Given the description of an element on the screen output the (x, y) to click on. 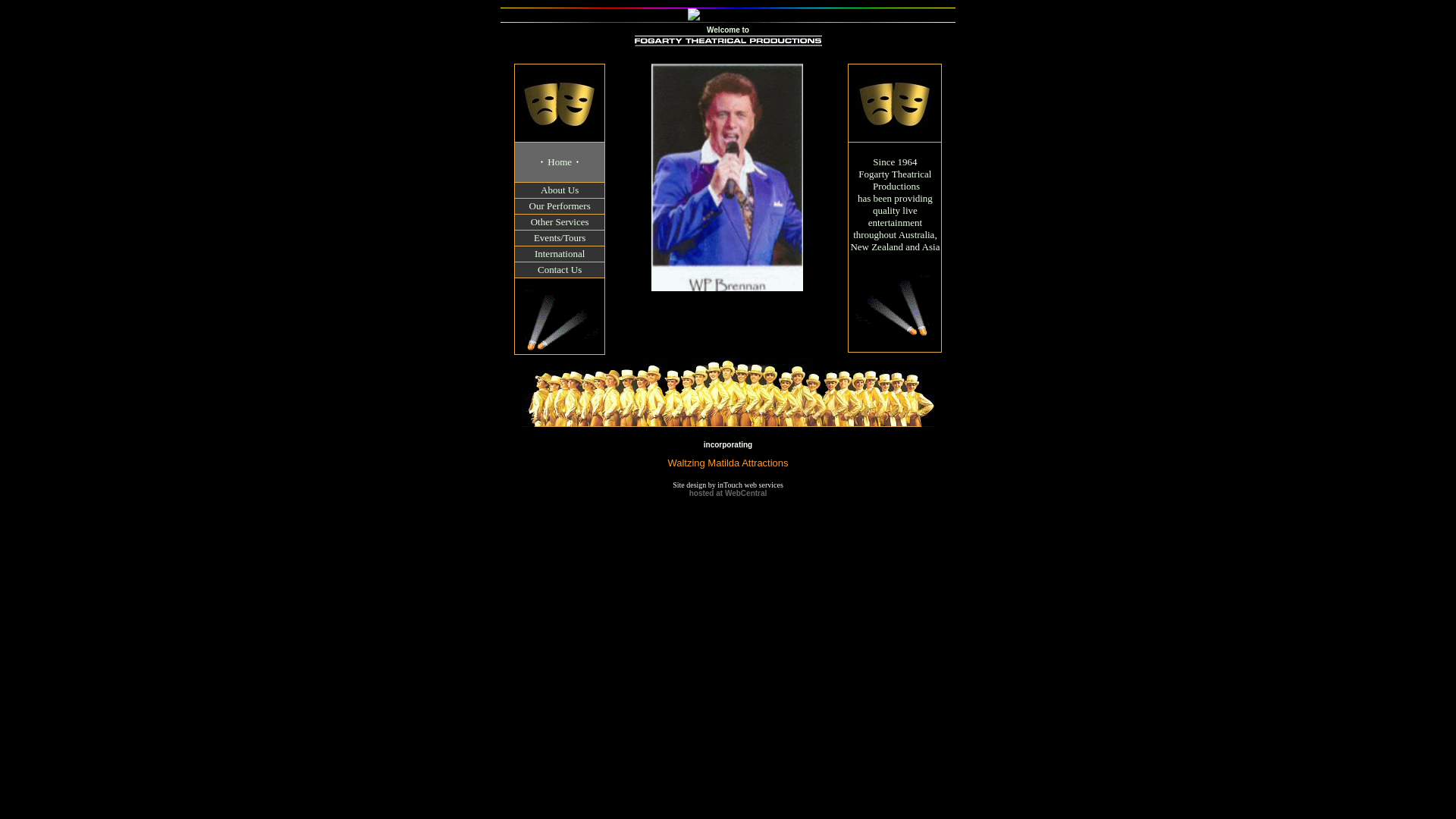
Our Performers Element type: text (559, 205)
About Us Element type: text (559, 189)
Contact Us Element type: text (559, 269)
Other Services Element type: text (559, 221)
inTouch web services Element type: text (750, 482)
Events/Tours Element type: text (559, 237)
International Element type: text (559, 253)
